Given the description of an element on the screen output the (x, y) to click on. 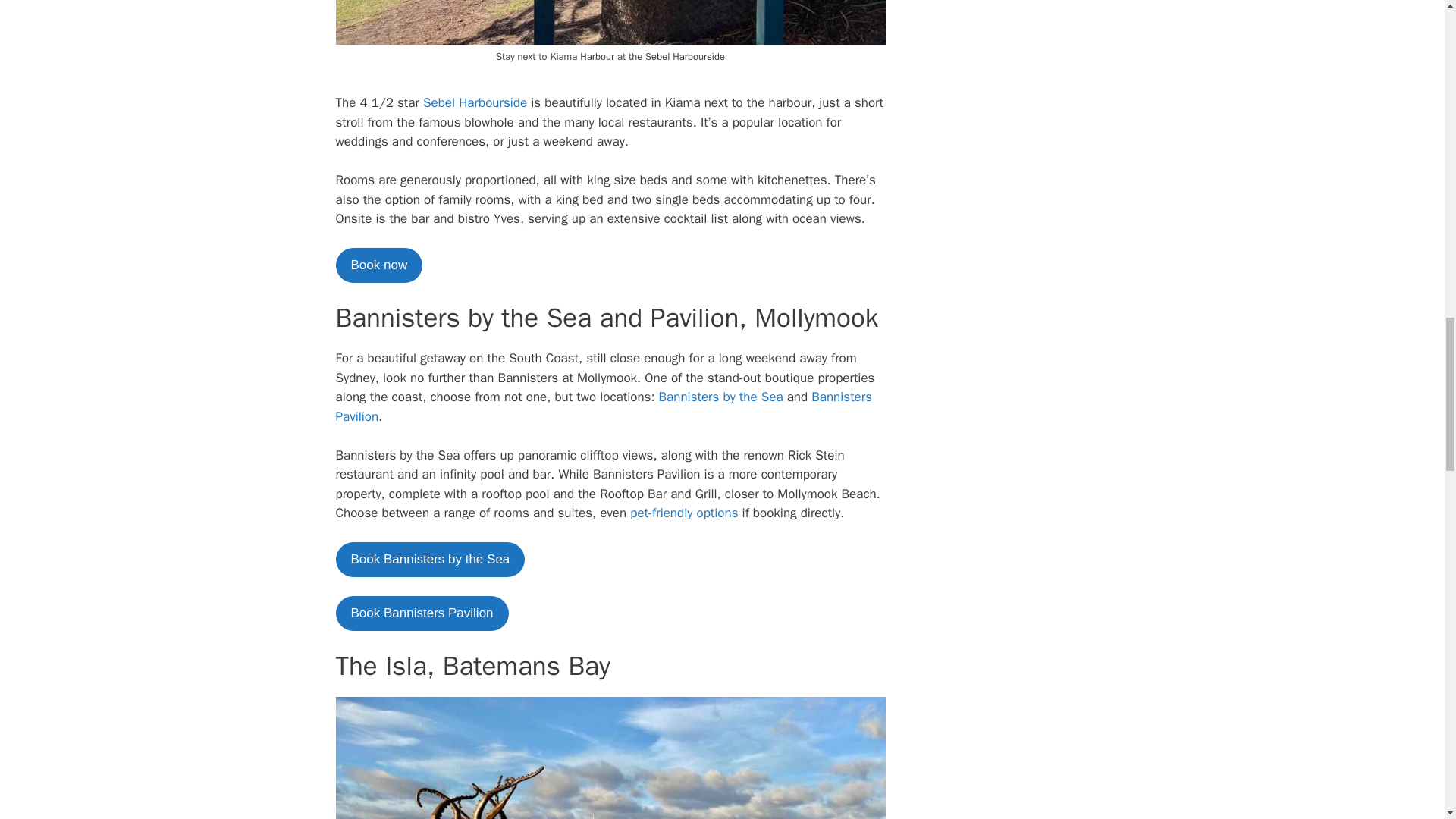
Book now (378, 265)
pet-friendly options (684, 512)
Bannisters by the Sea (723, 396)
Sebel Harbourside (475, 102)
Book Bannisters by the Sea (429, 559)
Bannisters Pavilion (603, 407)
Book Bannisters Pavilion (421, 613)
